Given the description of an element on the screen output the (x, y) to click on. 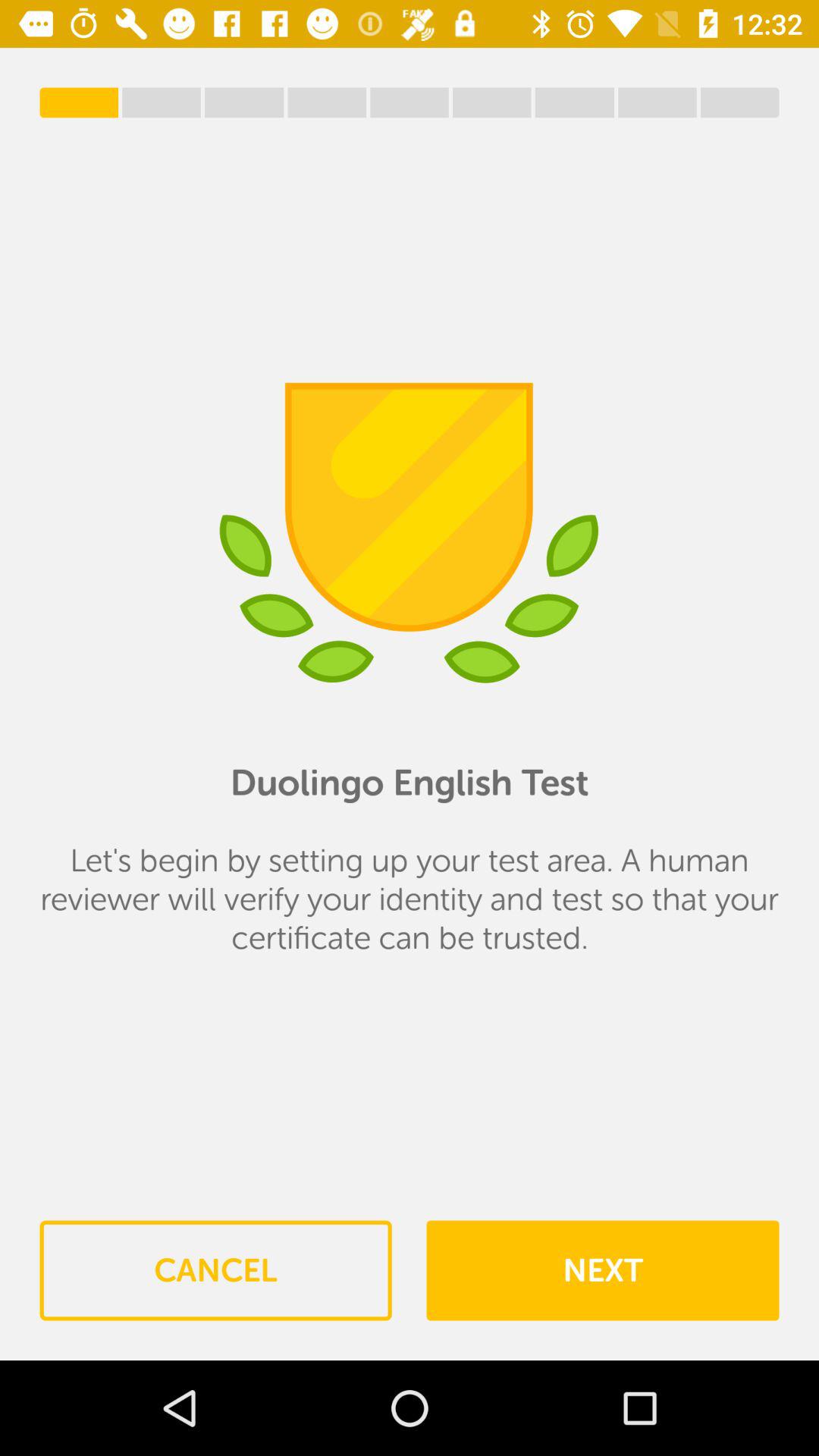
launch icon next to next (215, 1270)
